Given the description of an element on the screen output the (x, y) to click on. 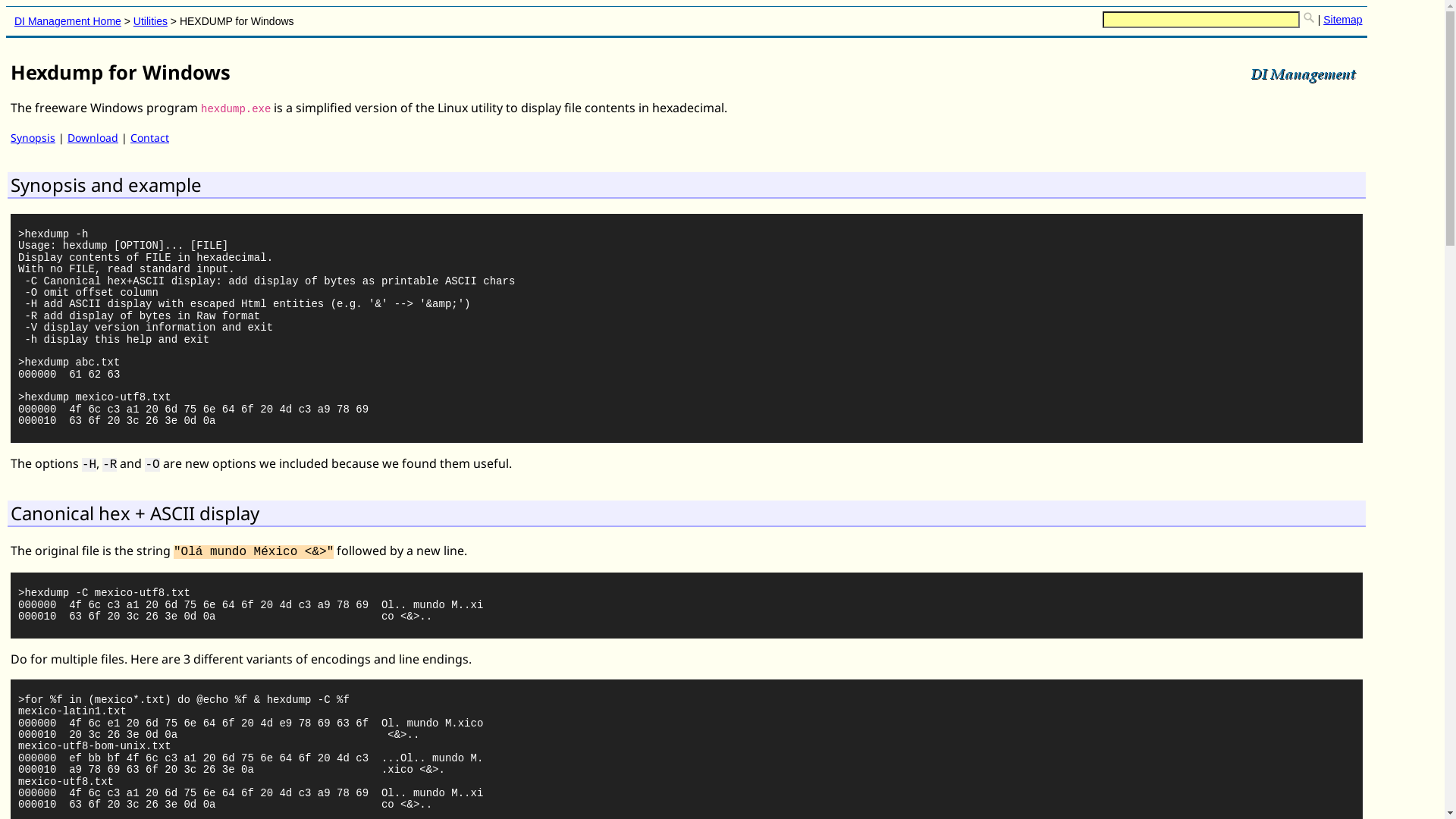
Search site Element type: hover (1308, 17)
Synopsis Element type: text (32, 137)
DI Management Services, Australia Element type: hover (1302, 73)
Download Element type: text (92, 137)
DI Management Home Element type: text (67, 21)
Sitemap Element type: text (1342, 19)
Contact Element type: text (149, 137)
Utilities Element type: text (150, 21)
